Given the description of an element on the screen output the (x, y) to click on. 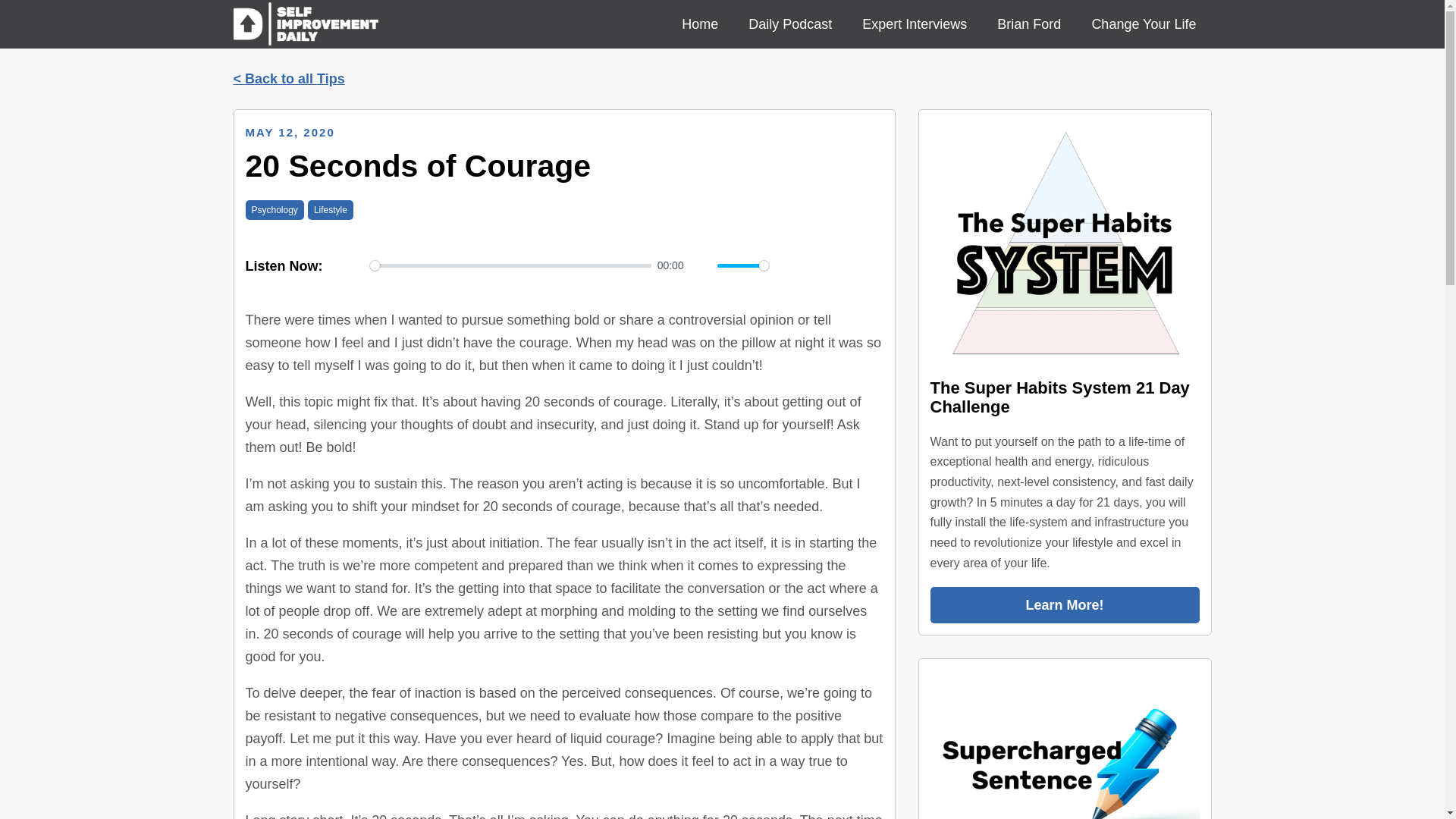
Mute (700, 265)
Change Your Life (1143, 24)
Daily Podcast (790, 24)
Lifestyle (330, 209)
1 (742, 265)
Psychology (275, 209)
Expert Interviews (914, 24)
Brian Ford (1028, 24)
Home (699, 24)
Play (352, 265)
0 (510, 265)
